Given the description of an element on the screen output the (x, y) to click on. 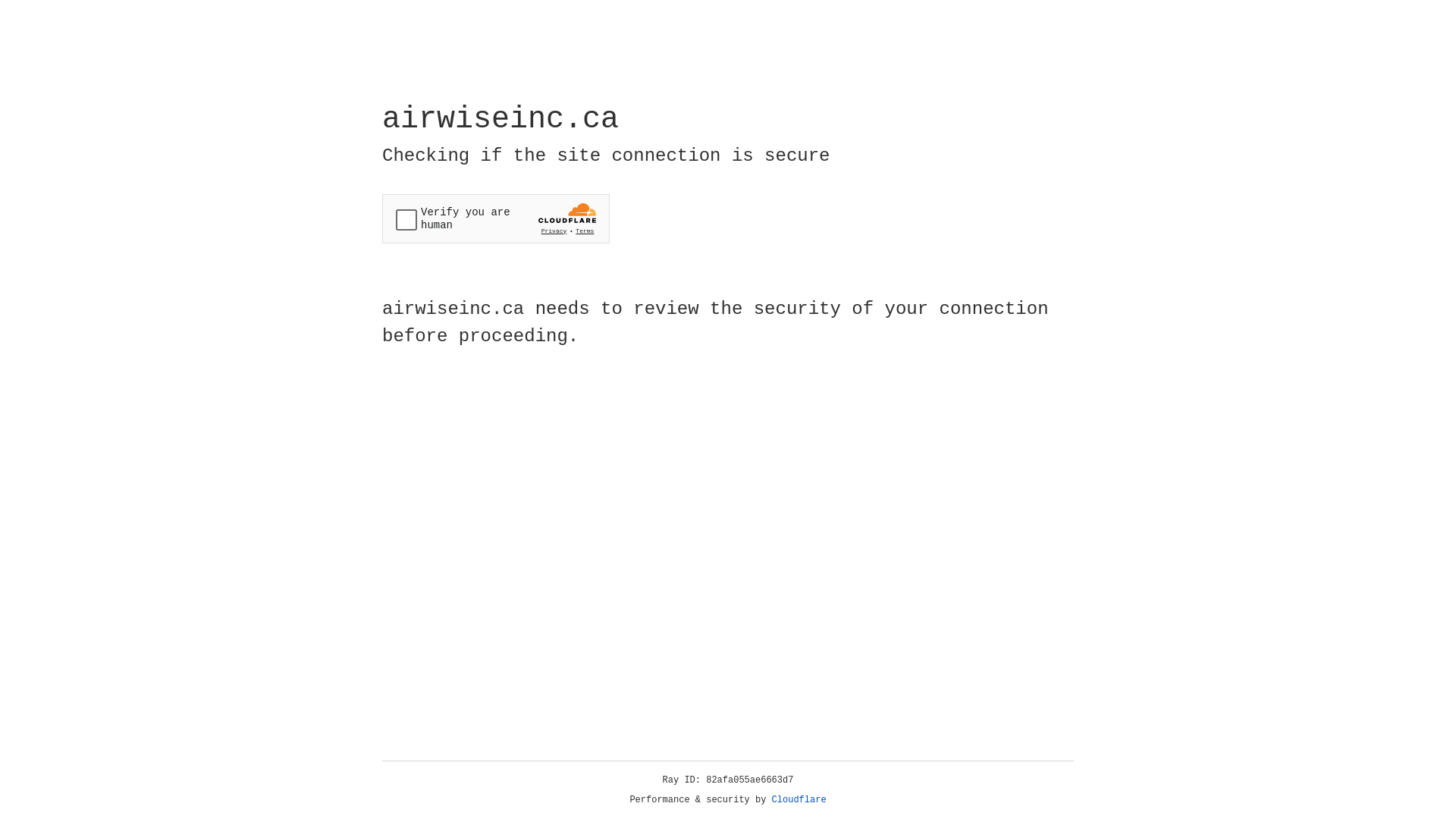
Widget containing a Cloudflare security challenge Element type: hover (495, 218)
Cloudflare Element type: text (798, 799)
